Given the description of an element on the screen output the (x, y) to click on. 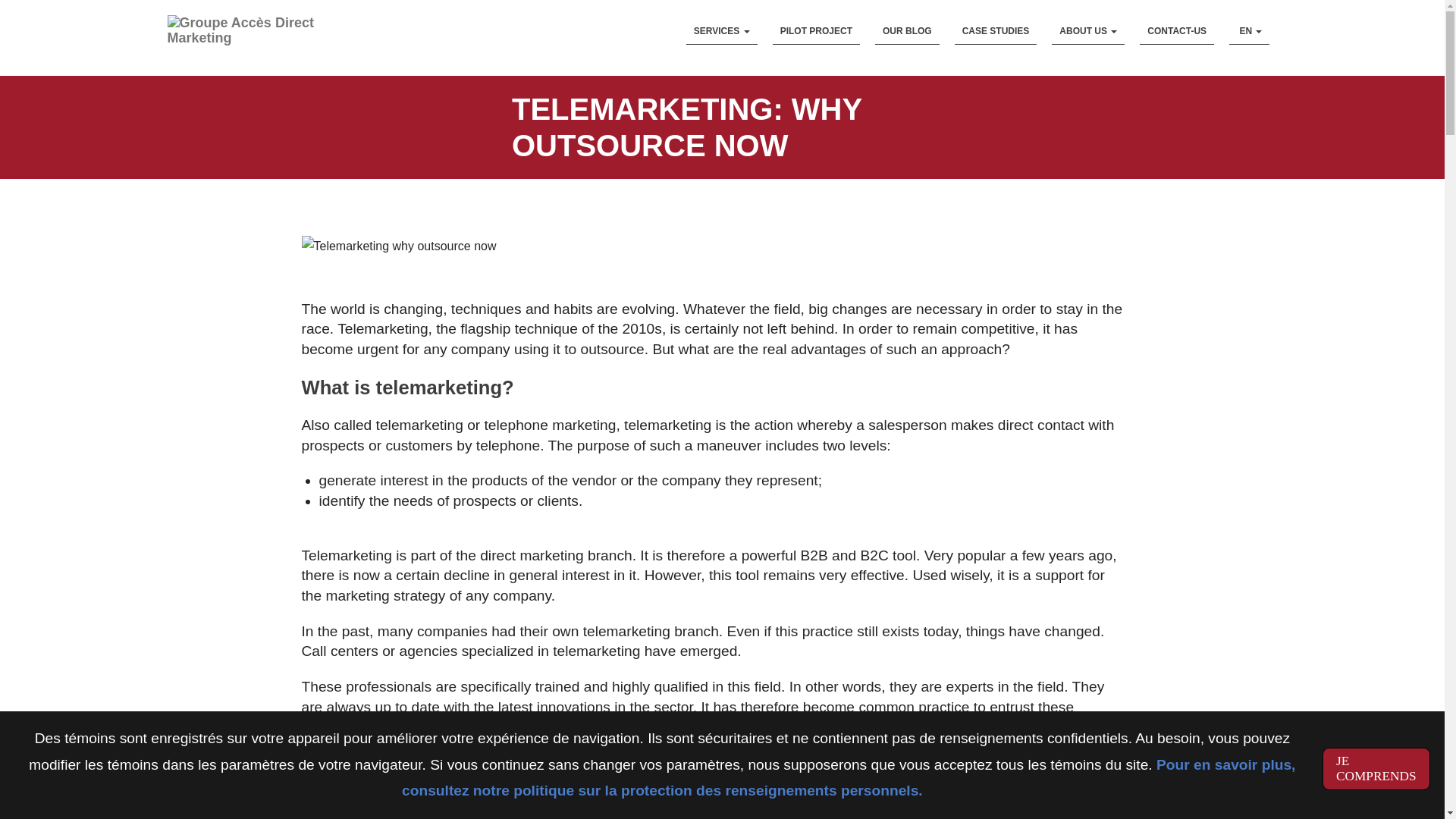
Pilot Project (816, 31)
Our Blog (907, 31)
Services (721, 31)
Case Studies (995, 31)
 EN (1248, 31)
CASE STUDIES (995, 31)
Contact-Us (1177, 31)
About us (1087, 31)
CONTACT-US (1177, 31)
SERVICES (721, 31)
JE COMPRENDS (1375, 768)
ABOUT US (1087, 31)
PILOT PROJECT (816, 31)
